Given the description of an element on the screen output the (x, y) to click on. 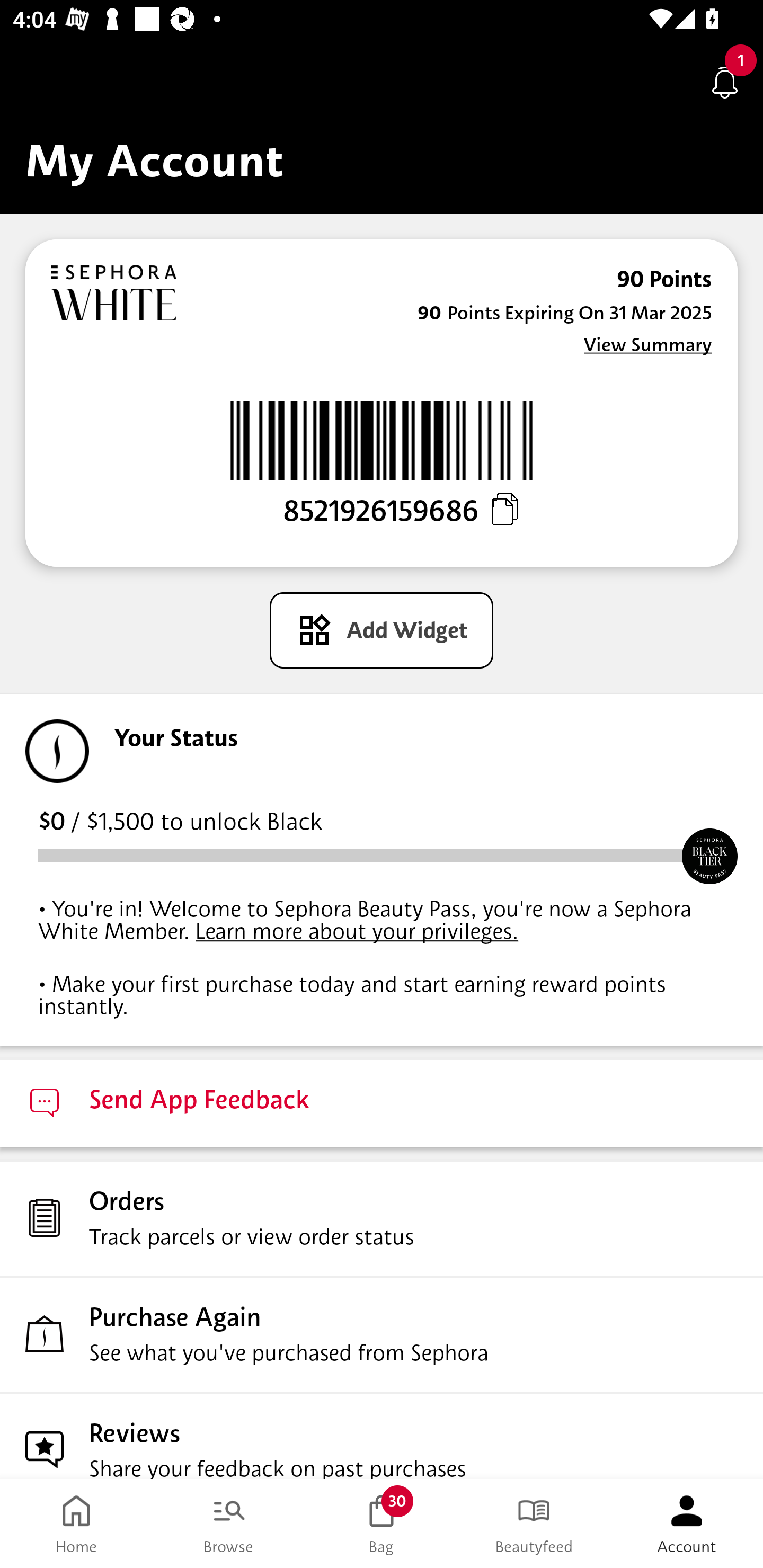
Notifications (724, 81)
View Summary (647, 343)
Add Widget (381, 629)
Send App Feedback (381, 1102)
Orders Track parcels or view order status (381, 1218)
Reviews Share your feedback on past purchases (381, 1435)
Home (76, 1523)
Browse (228, 1523)
Bag 30 Bag (381, 1523)
Beautyfeed (533, 1523)
